Given the description of an element on the screen output the (x, y) to click on. 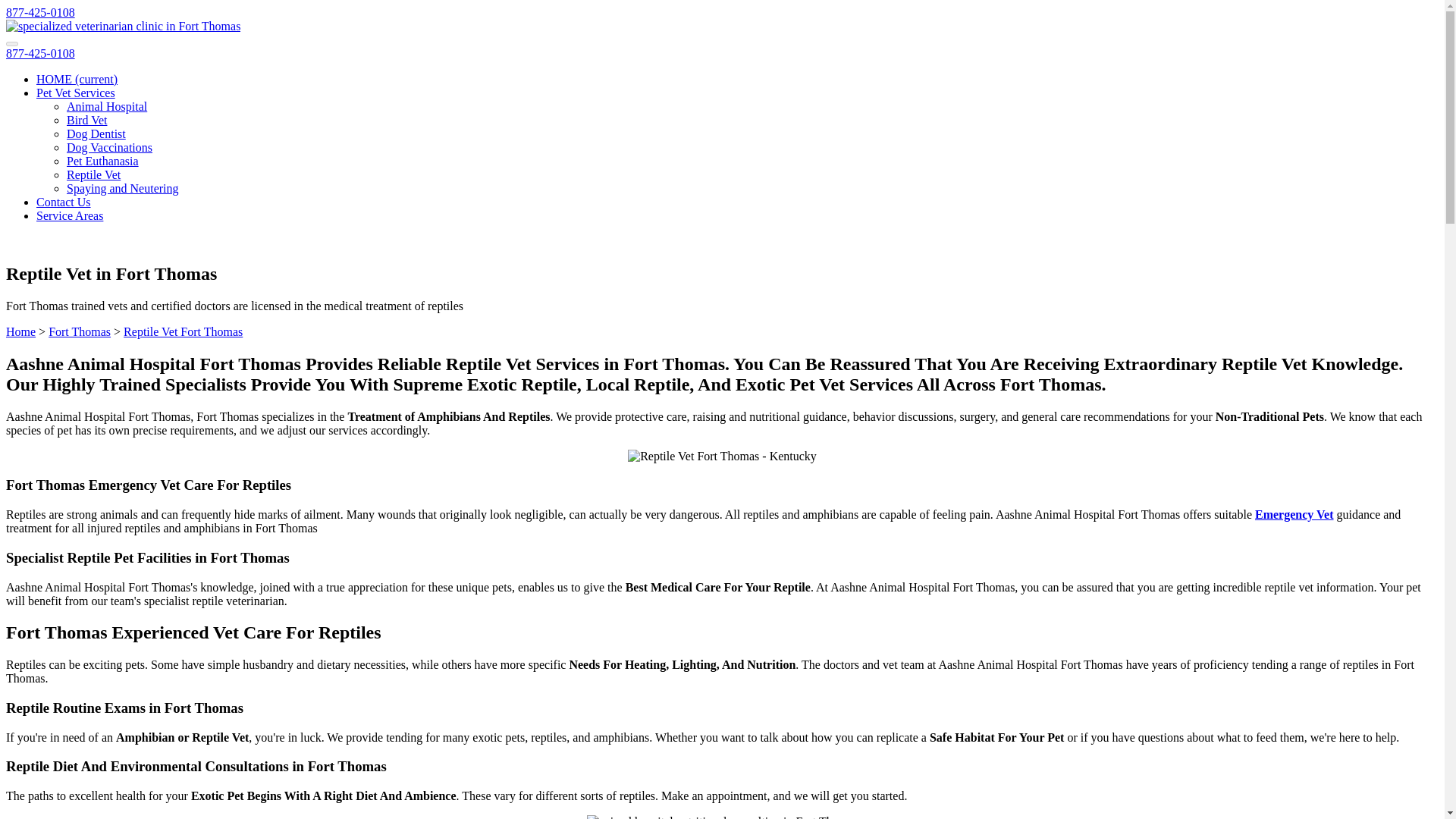
Service Areas (69, 215)
Dog Vaccinations (109, 146)
Reptile Vet Fort Thomas (183, 331)
Pet Euthanasia (102, 160)
Home (19, 331)
Contact Us (63, 201)
Make a Call! (40, 52)
Dog Dentist (95, 133)
Make a Call! (40, 11)
Spaying and Neutering (122, 187)
